Given the description of an element on the screen output the (x, y) to click on. 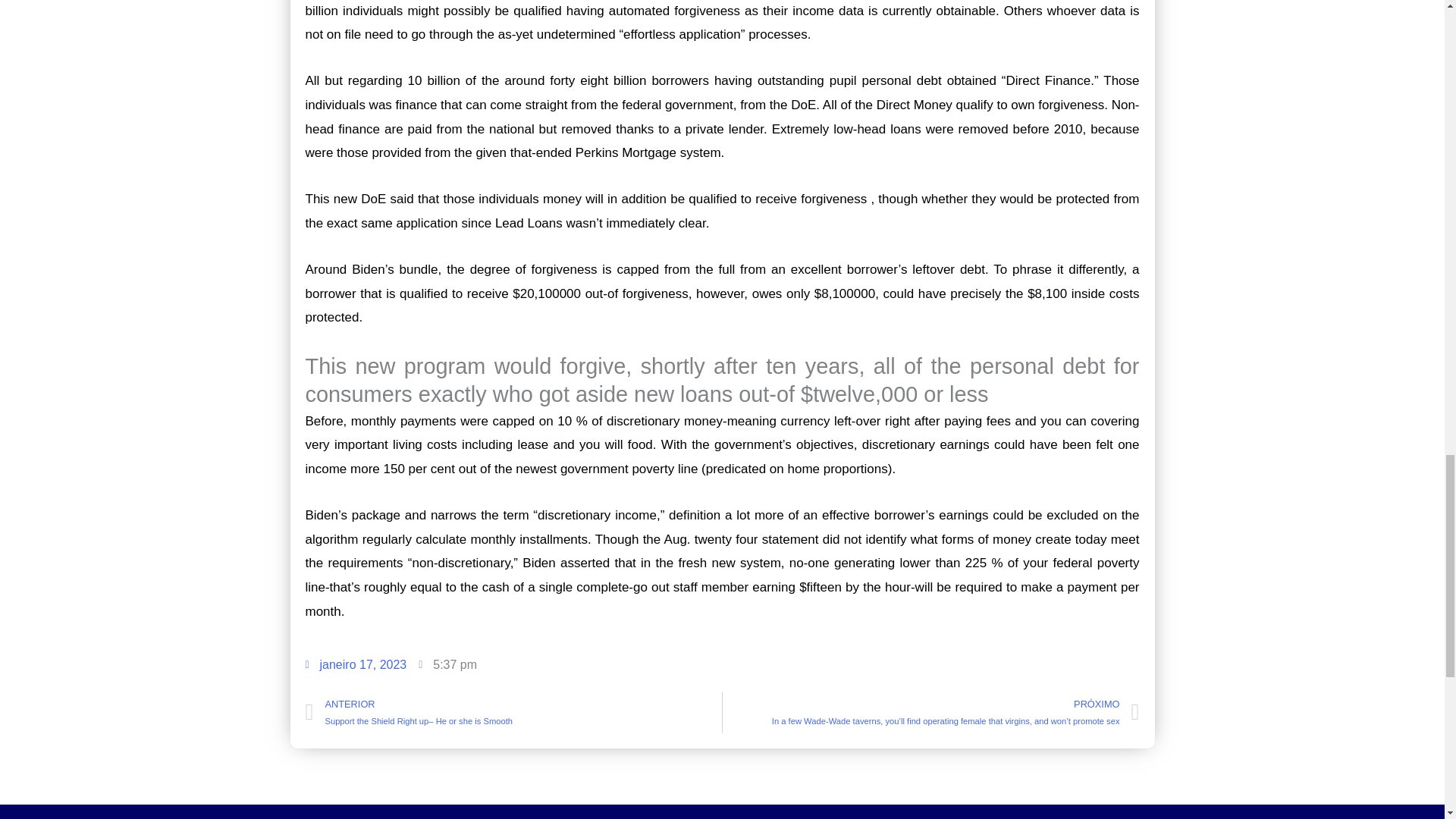
janeiro 17, 2023 (355, 664)
